Given the description of an element on the screen output the (x, y) to click on. 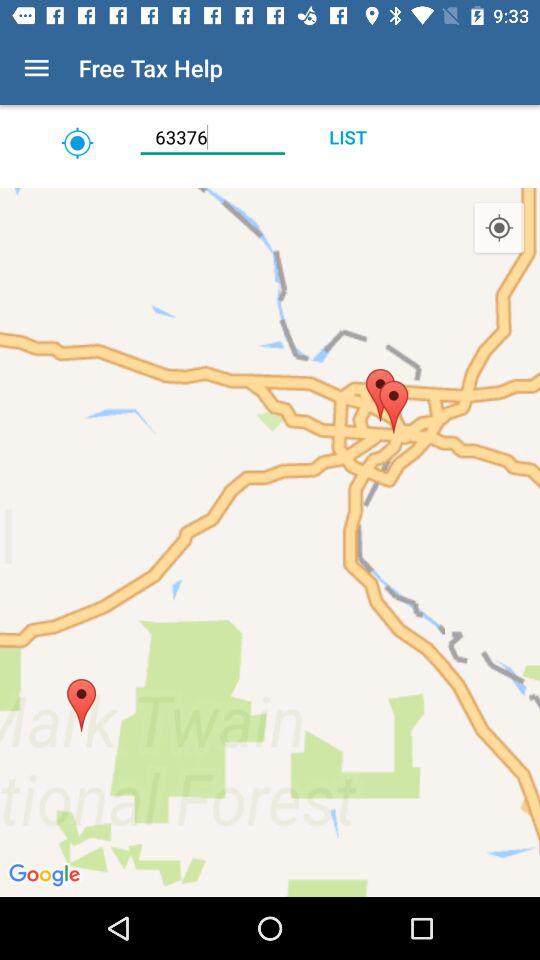
swipe to 63376 (212, 137)
